Given the description of an element on the screen output the (x, y) to click on. 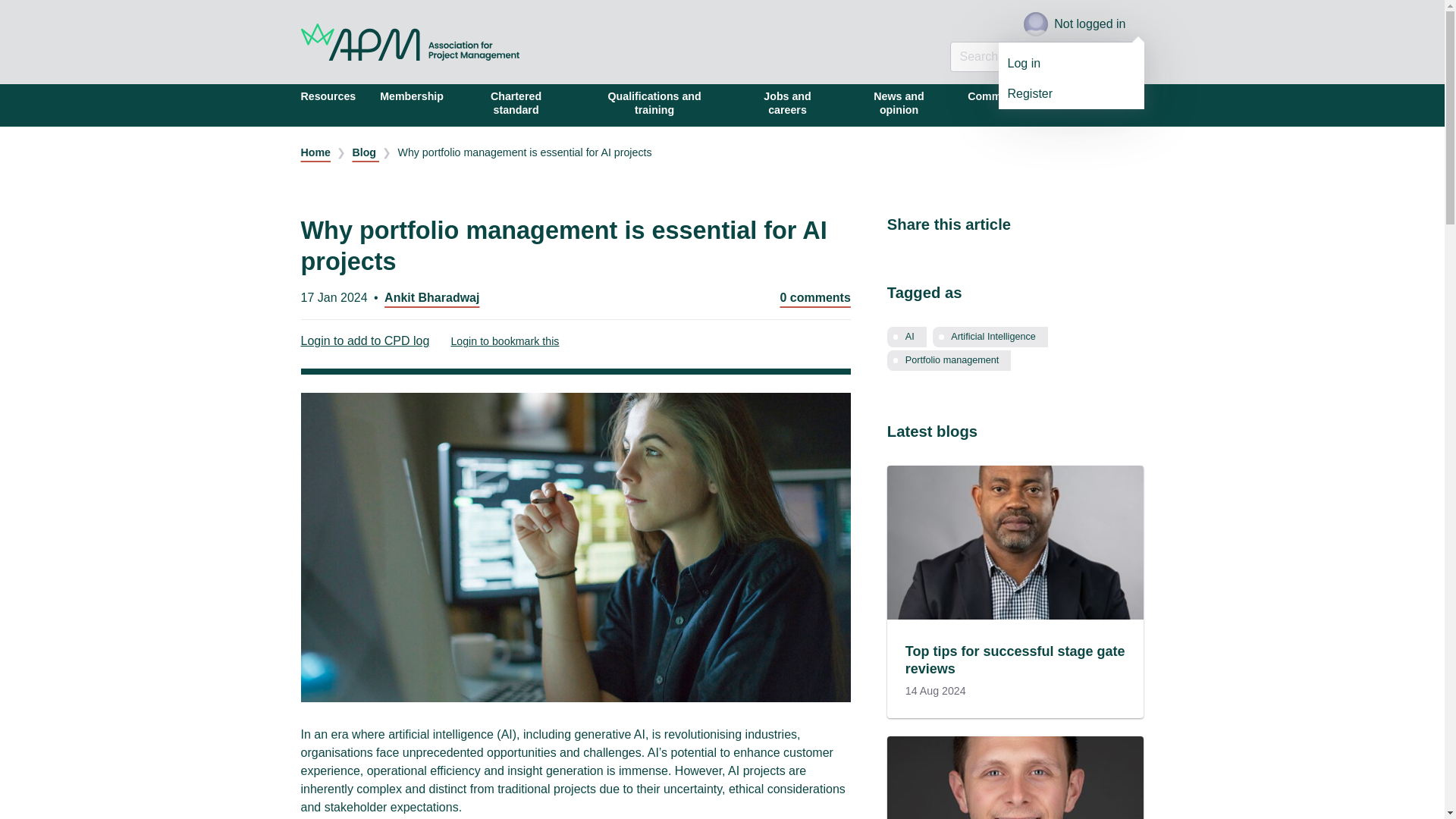
Not logged in (1082, 24)
Portfolio management (948, 360)
Blog (365, 152)
Login to add to CPD log (374, 341)
Artificial Intelligence (990, 336)
AI (906, 336)
Chartered standard (515, 105)
News and opinion (899, 105)
Ankit Bharadwaj (431, 297)
Events (1069, 105)
